Given the description of an element on the screen output the (x, y) to click on. 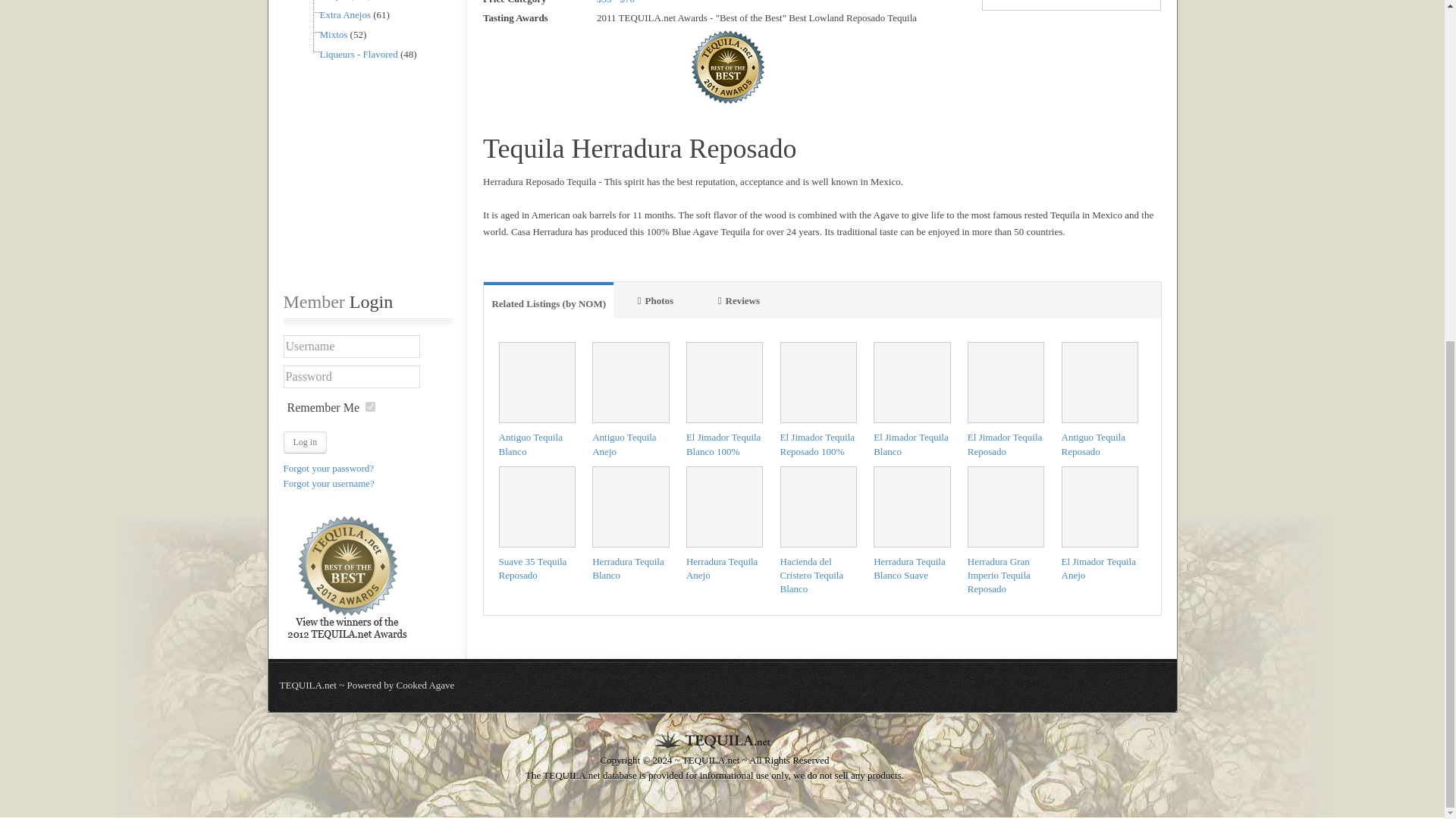
yes (370, 406)
Herradura Tequila Reposado (1070, 4)
Herradura Tequila Reposado (1071, 2)
2011 TEQUILA.net Awards - Best of the Best (727, 67)
